Given the description of an element on the screen output the (x, y) to click on. 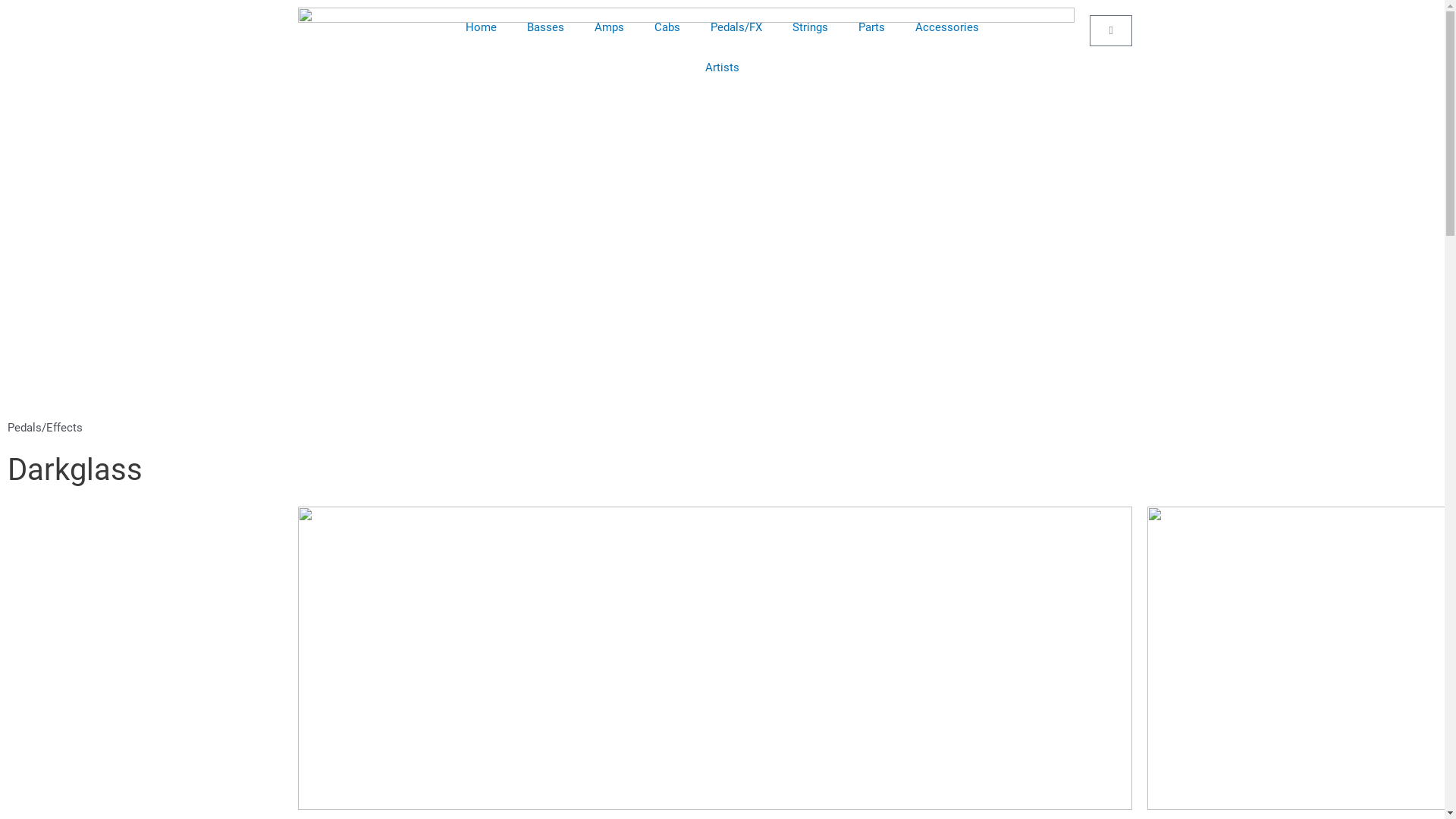
Parts Element type: text (871, 27)
Strings Element type: text (810, 27)
Cart Element type: text (1110, 30)
Cabs Element type: text (667, 27)
Accessories Element type: text (947, 27)
Pedals/FX Element type: text (736, 27)
Amps Element type: text (609, 27)
Home Element type: text (480, 27)
Basses Element type: text (545, 27)
Artists Element type: text (722, 67)
